Given the description of an element on the screen output the (x, y) to click on. 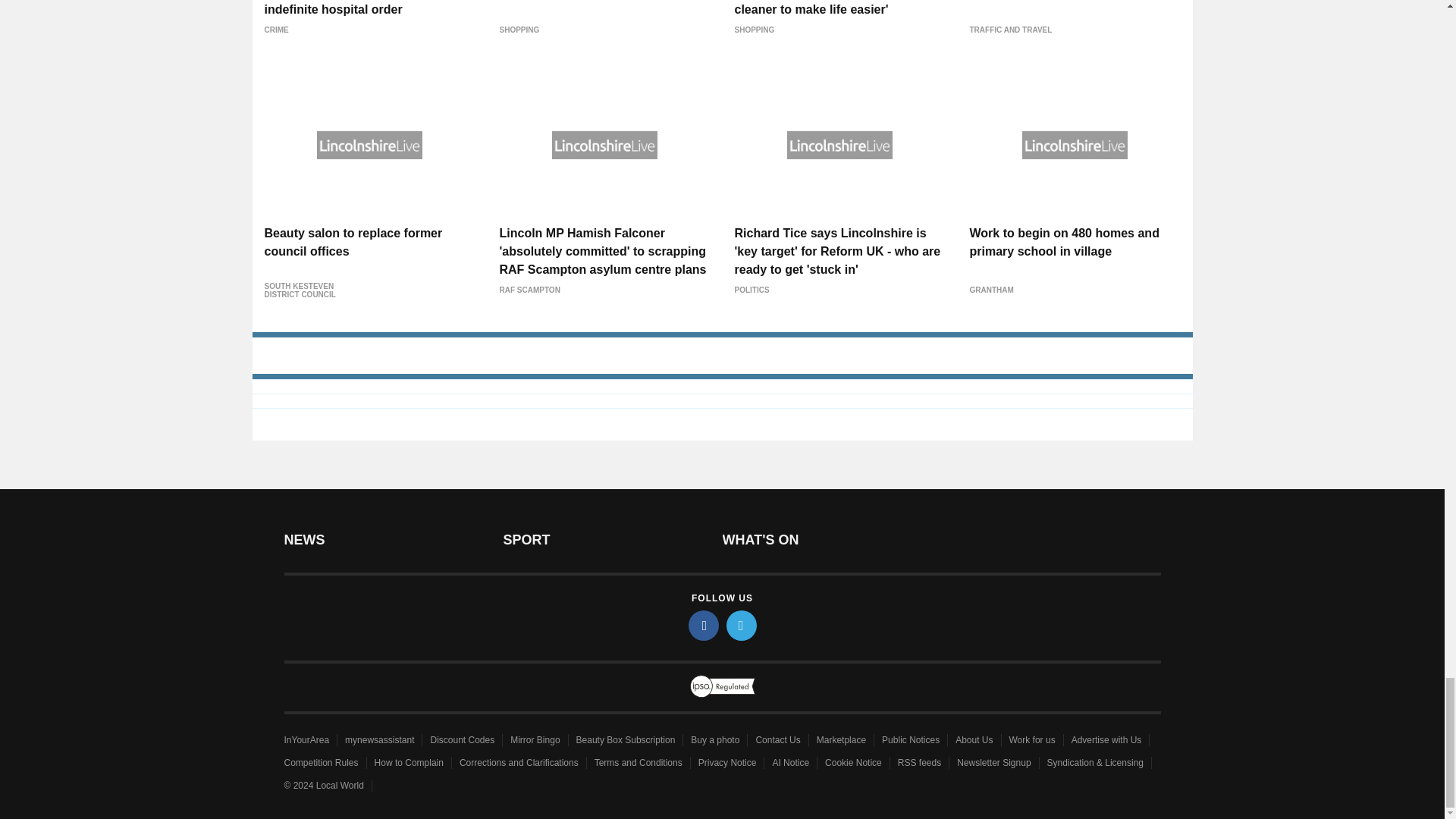
twitter (741, 625)
facebook (703, 625)
